Given the description of an element on the screen output the (x, y) to click on. 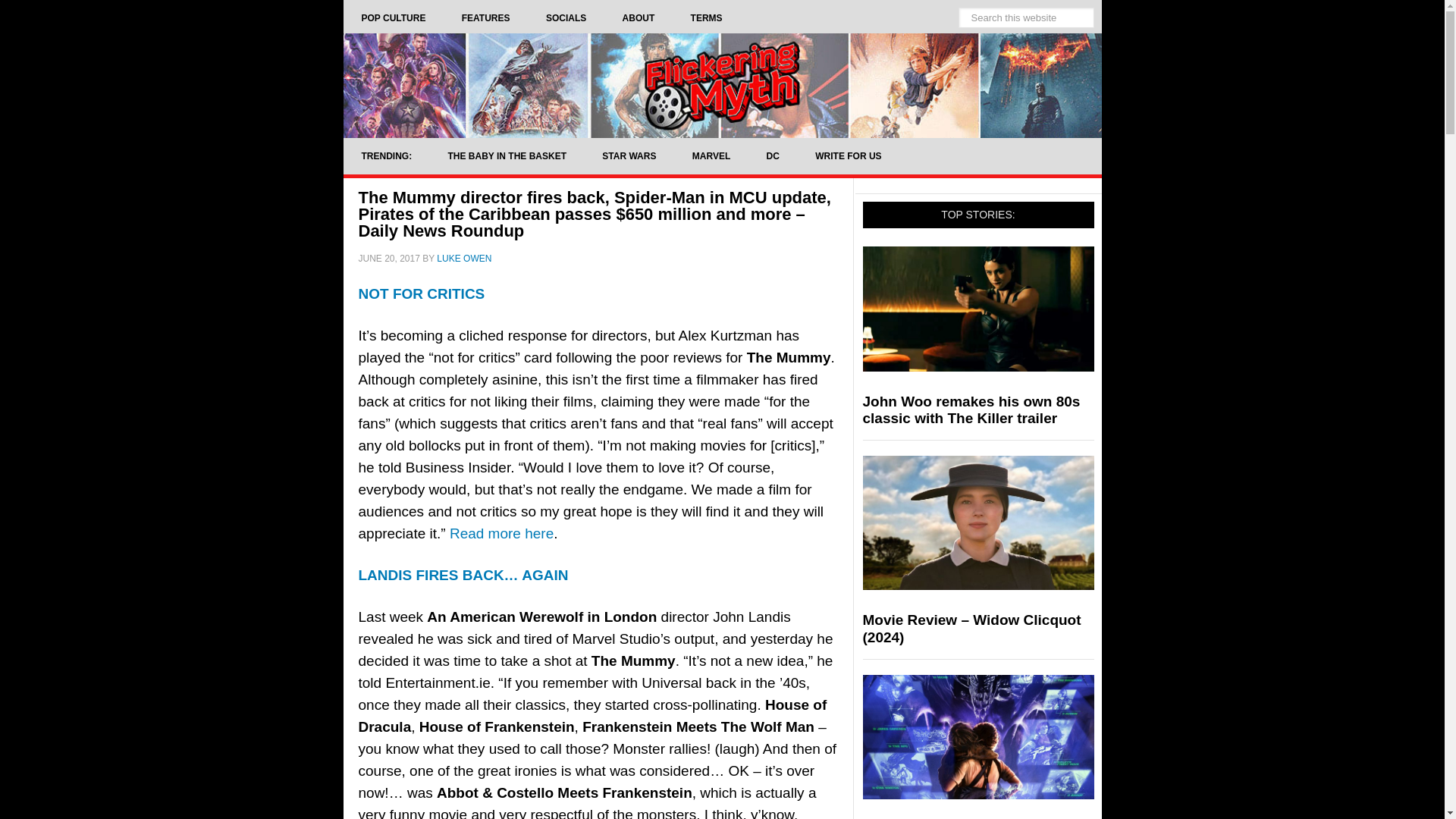
NOT FOR CRITICS (421, 293)
STAR WARS (628, 156)
TERMS (706, 18)
TRENDING: (385, 156)
LUKE OWEN (464, 258)
ABOUT (638, 18)
Pop Culture (393, 18)
Read more here (501, 533)
DC (772, 156)
Flickering Myth Social Media (565, 18)
POP CULTURE (393, 18)
Features (486, 18)
